Given the description of an element on the screen output the (x, y) to click on. 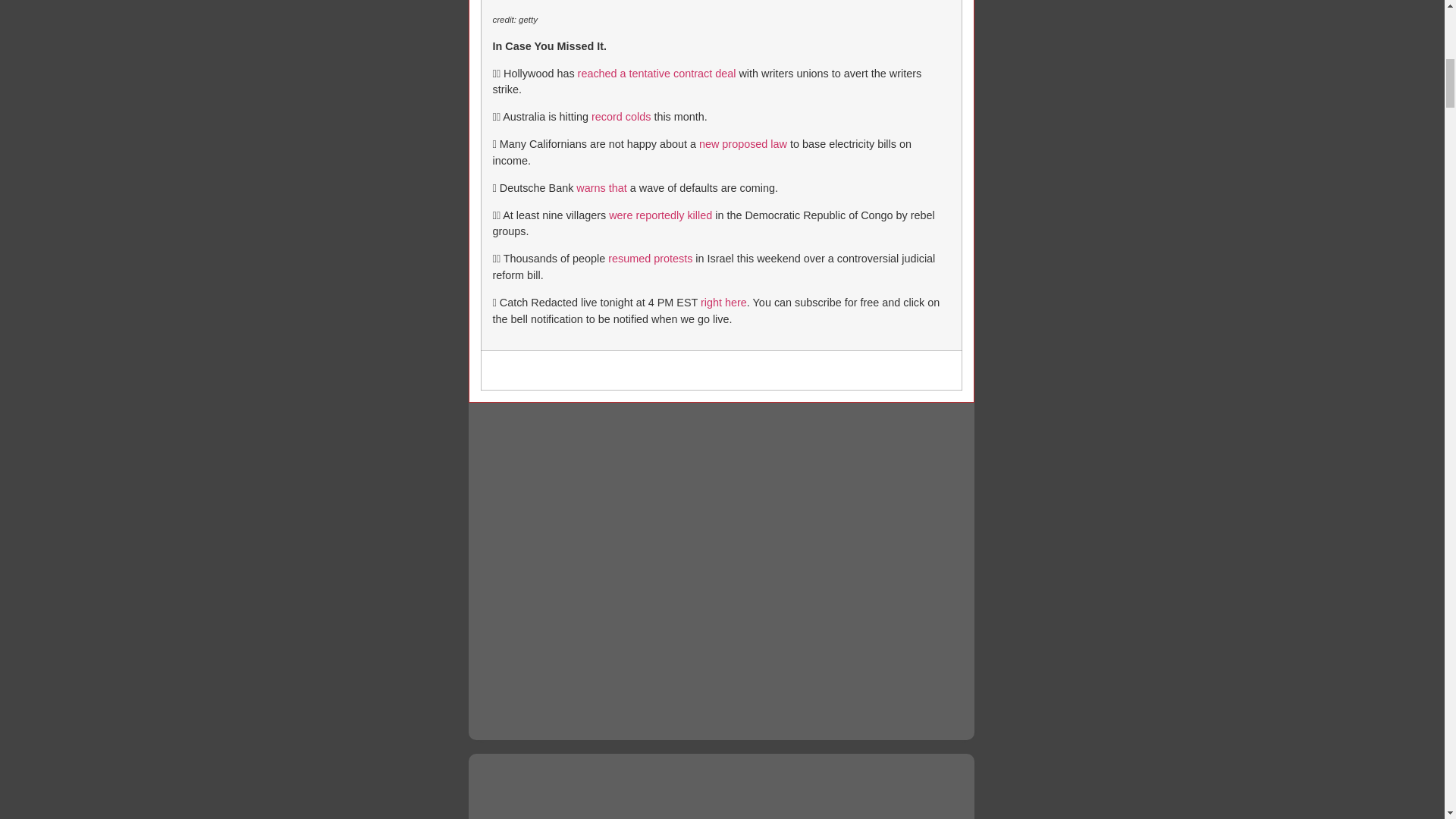
warns that (601, 187)
resumed protests (650, 258)
credit: (504, 19)
right here (723, 302)
record colds (620, 116)
were reportedly killed (659, 215)
new proposed law (742, 143)
reached a tentative contract deal (657, 73)
